Given the description of an element on the screen output the (x, y) to click on. 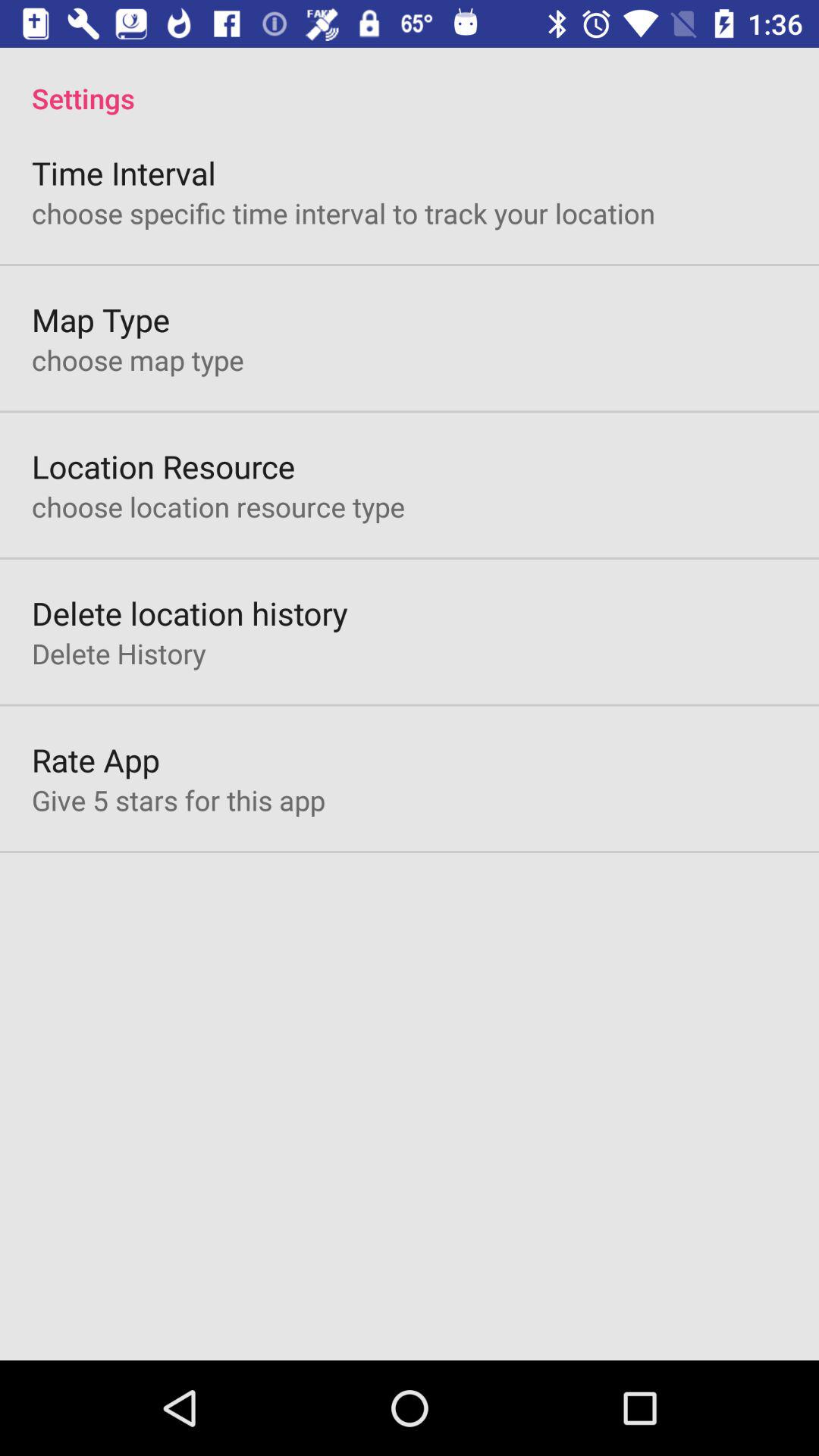
press the icon above give 5 stars (95, 759)
